Given the description of an element on the screen output the (x, y) to click on. 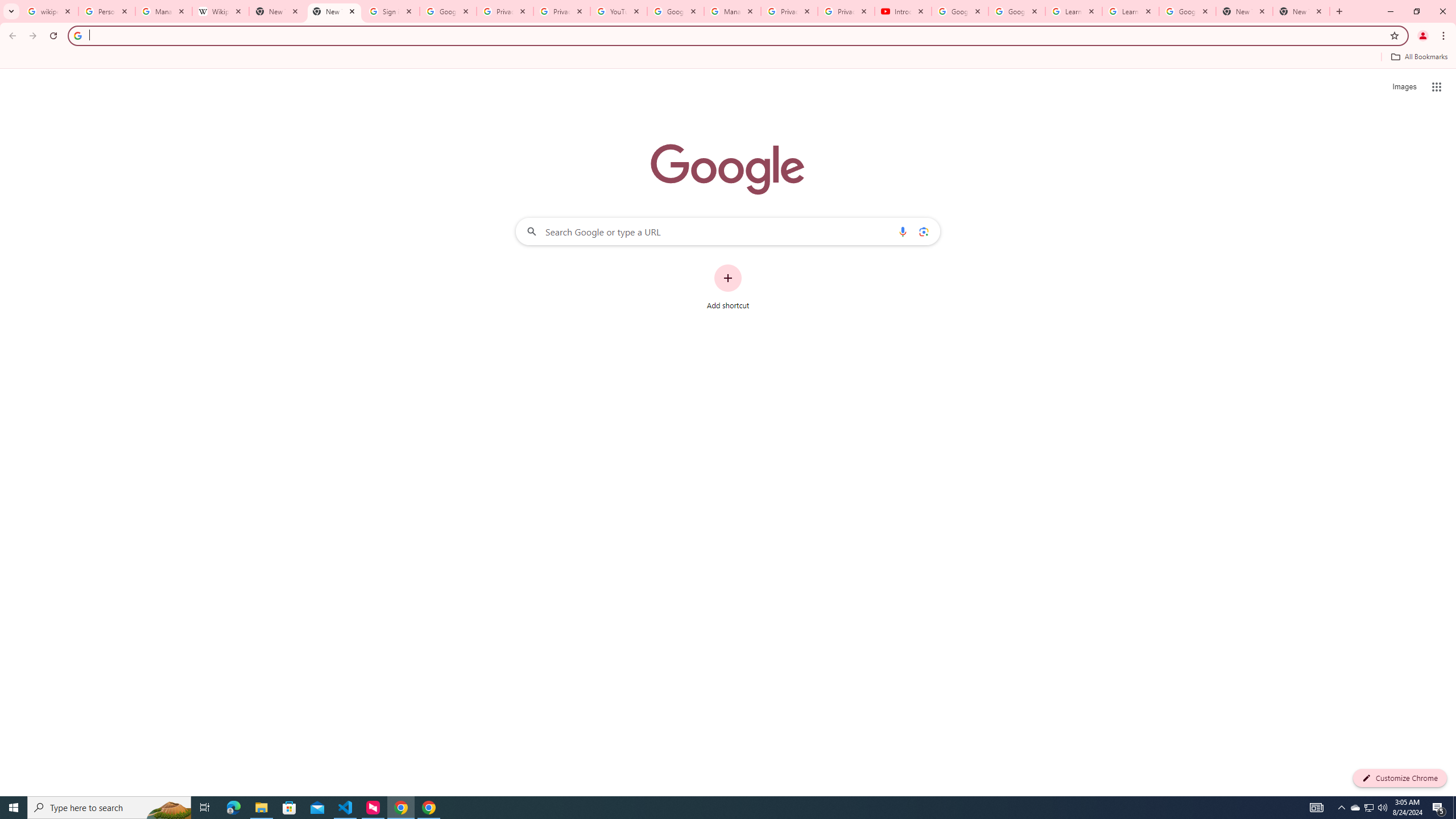
New Tab (1244, 11)
Personalization & Google Search results - Google Search Help (105, 11)
